Given the description of an element on the screen output the (x, y) to click on. 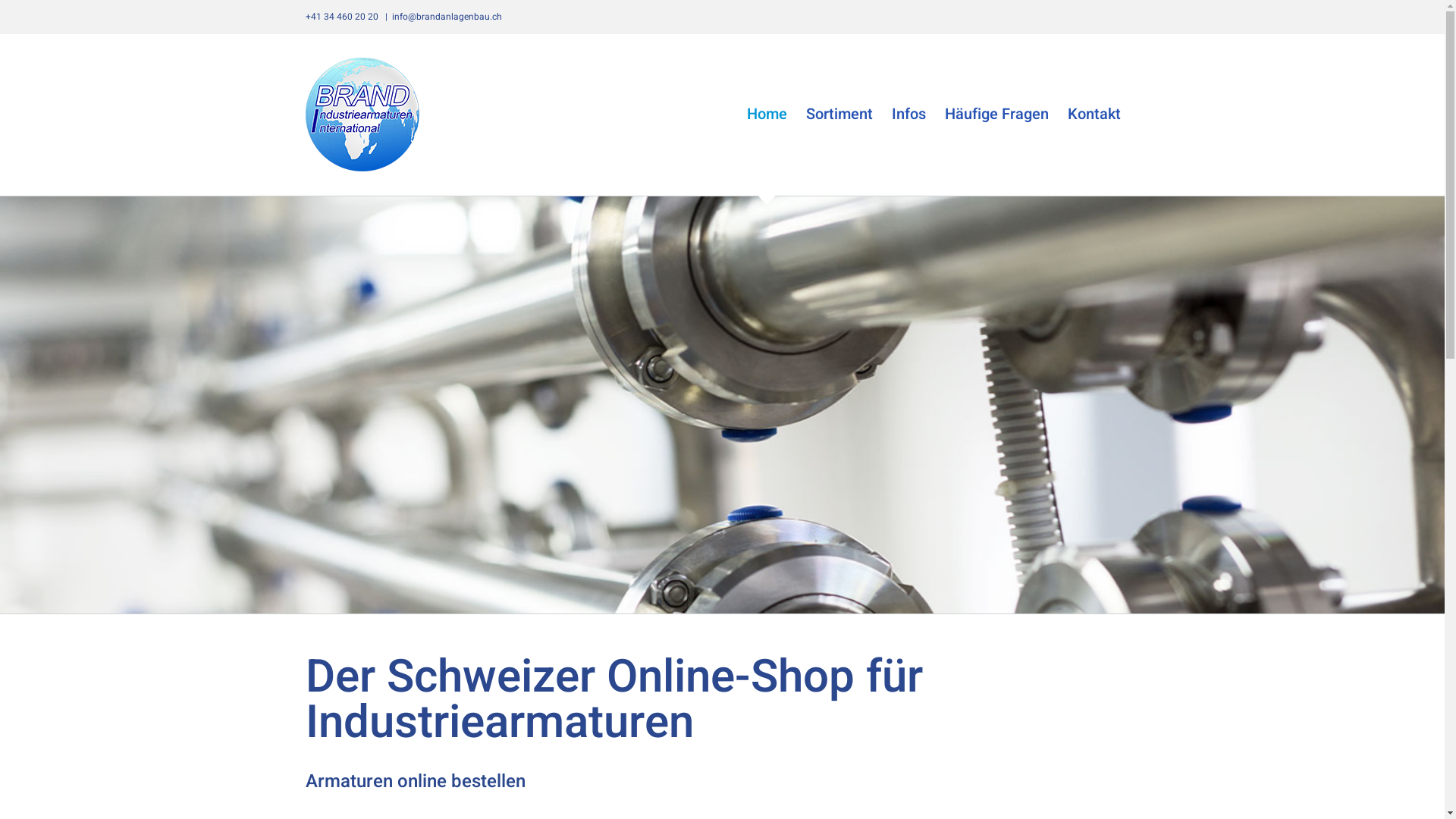
Home Element type: text (766, 114)
Kontakt Element type: text (1093, 114)
info@brandanlagenbau.ch Element type: text (446, 16)
Sortiment Element type: text (838, 114)
Infos Element type: text (908, 114)
